Given the description of an element on the screen output the (x, y) to click on. 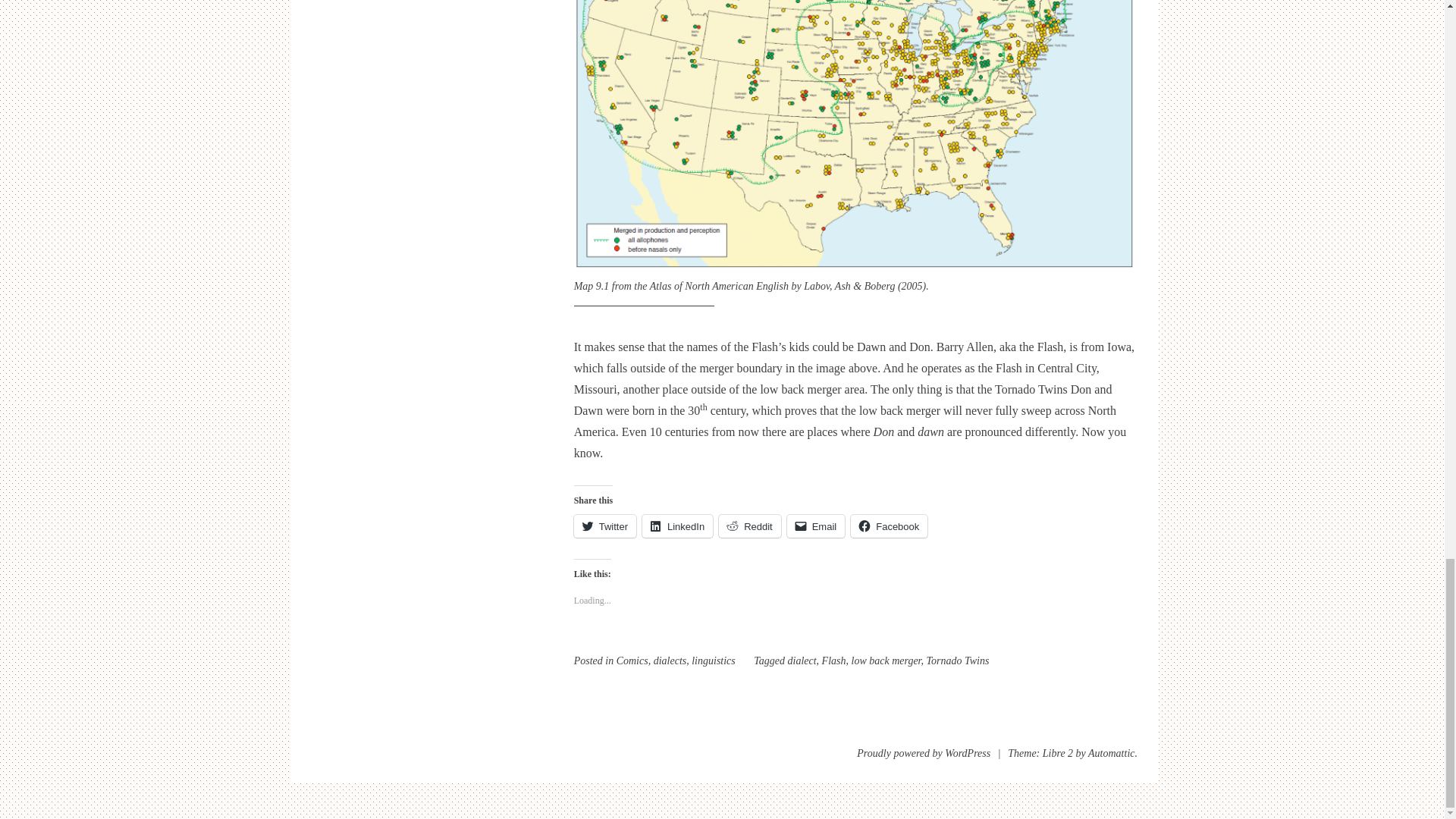
Click to share on LinkedIn (677, 526)
Facebook (888, 526)
Automattic (1110, 753)
Click to share on Twitter (604, 526)
low back merger (885, 660)
LinkedIn (677, 526)
Twitter (604, 526)
dialect (801, 660)
Email (816, 526)
dialects (670, 660)
Click to share on Facebook (888, 526)
Flash (833, 660)
linguistics (713, 660)
Tornado Twins (958, 660)
Comics (631, 660)
